Given the description of an element on the screen output the (x, y) to click on. 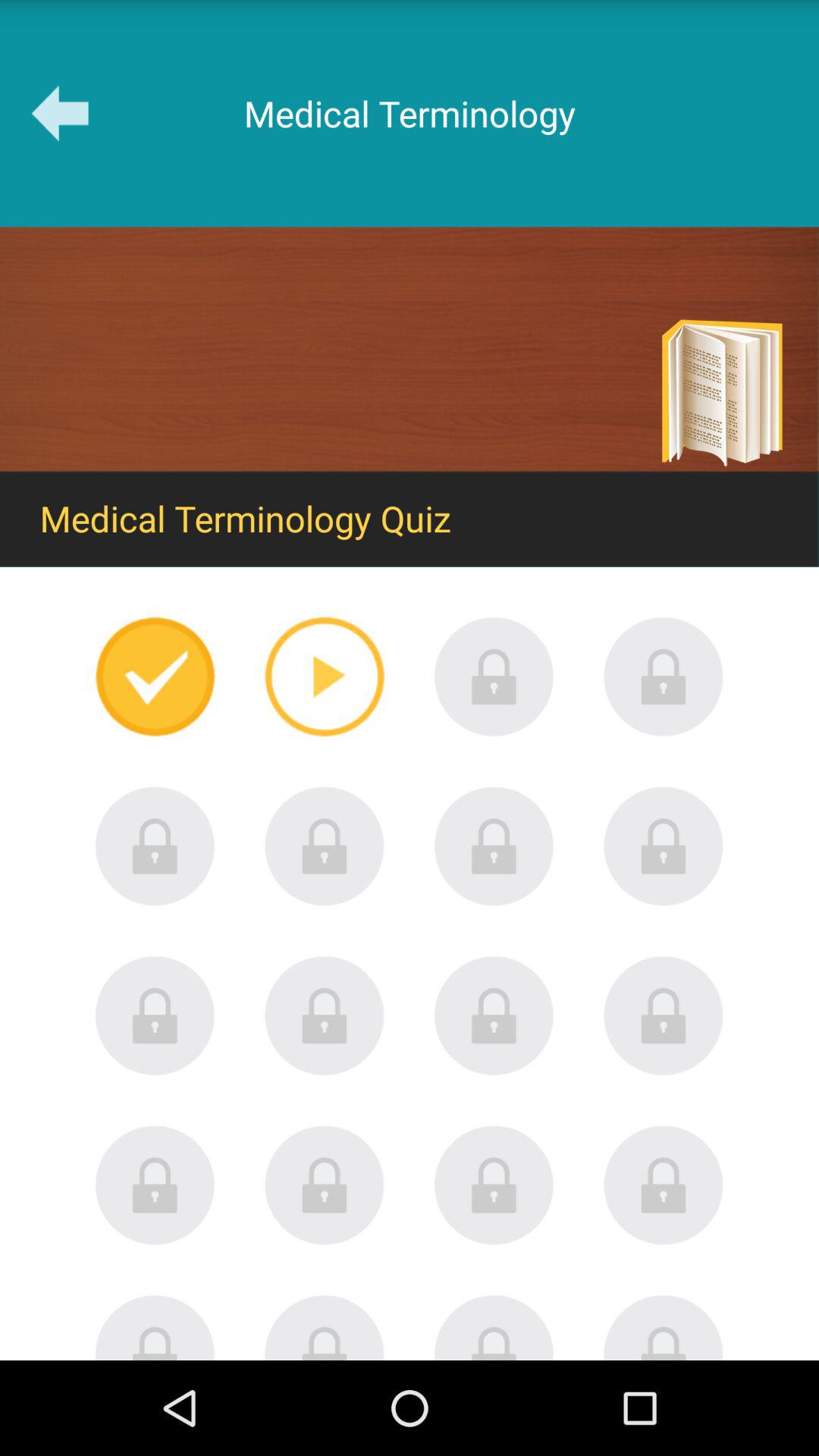
locked content (324, 1327)
